Given the description of an element on the screen output the (x, y) to click on. 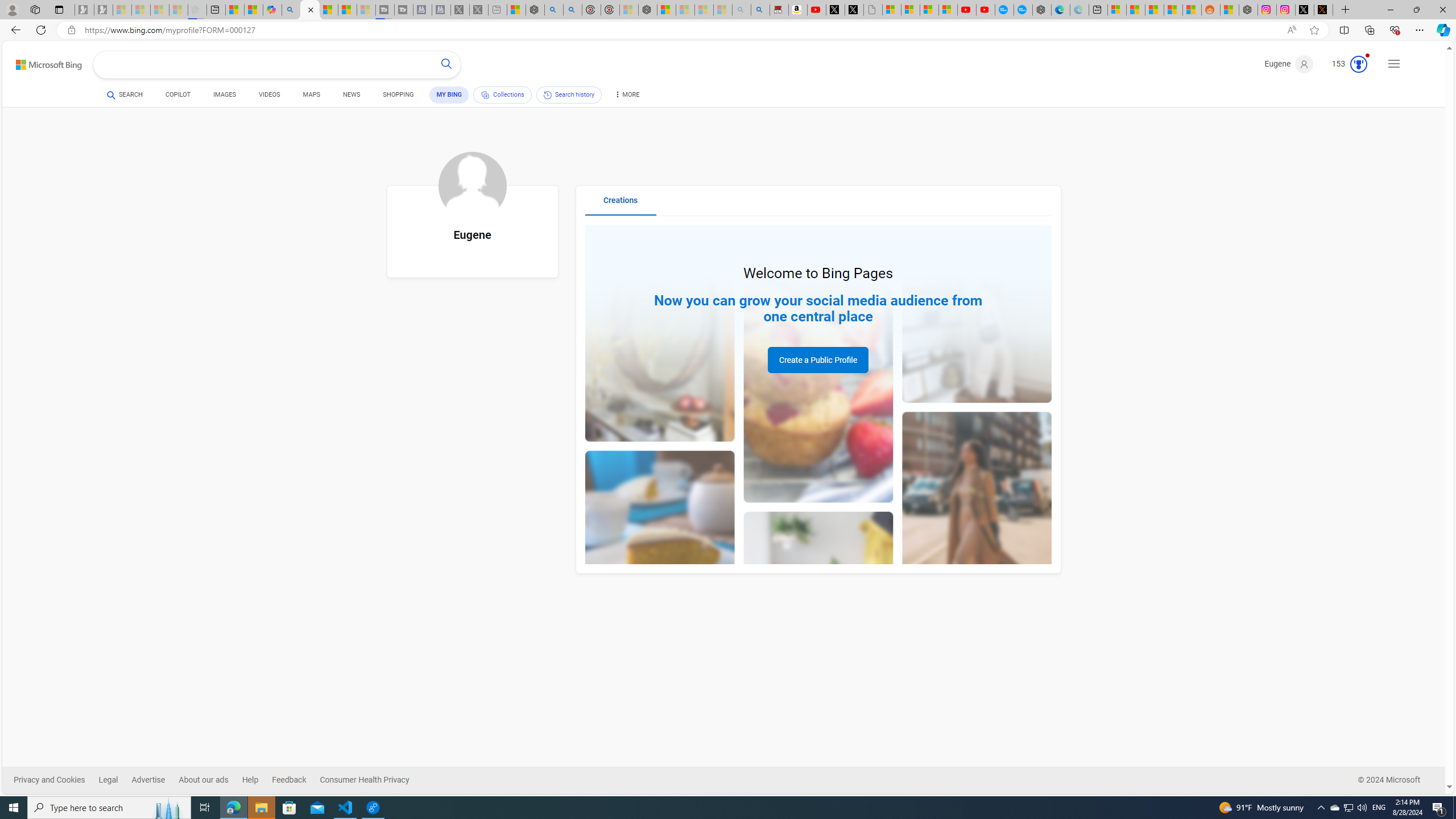
MORE (625, 96)
Advertise (148, 779)
Nordace - Nordace Siena Is Not An Ordinary Backpack (647, 9)
Shanghai, China hourly forecast | Microsoft Weather (1154, 9)
